Given the description of an element on the screen output the (x, y) to click on. 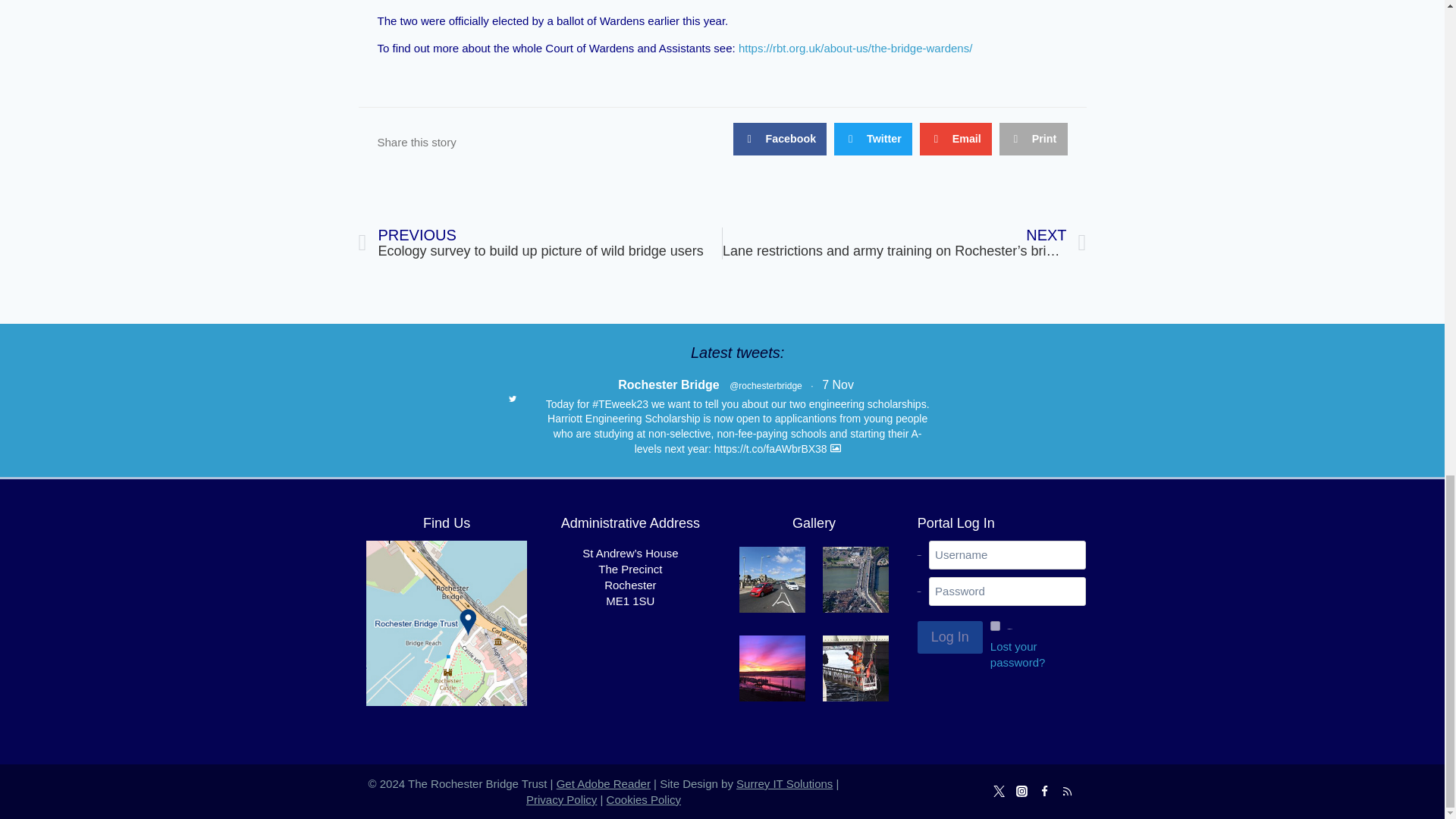
Log In (949, 636)
forever (995, 625)
